Given the description of an element on the screen output the (x, y) to click on. 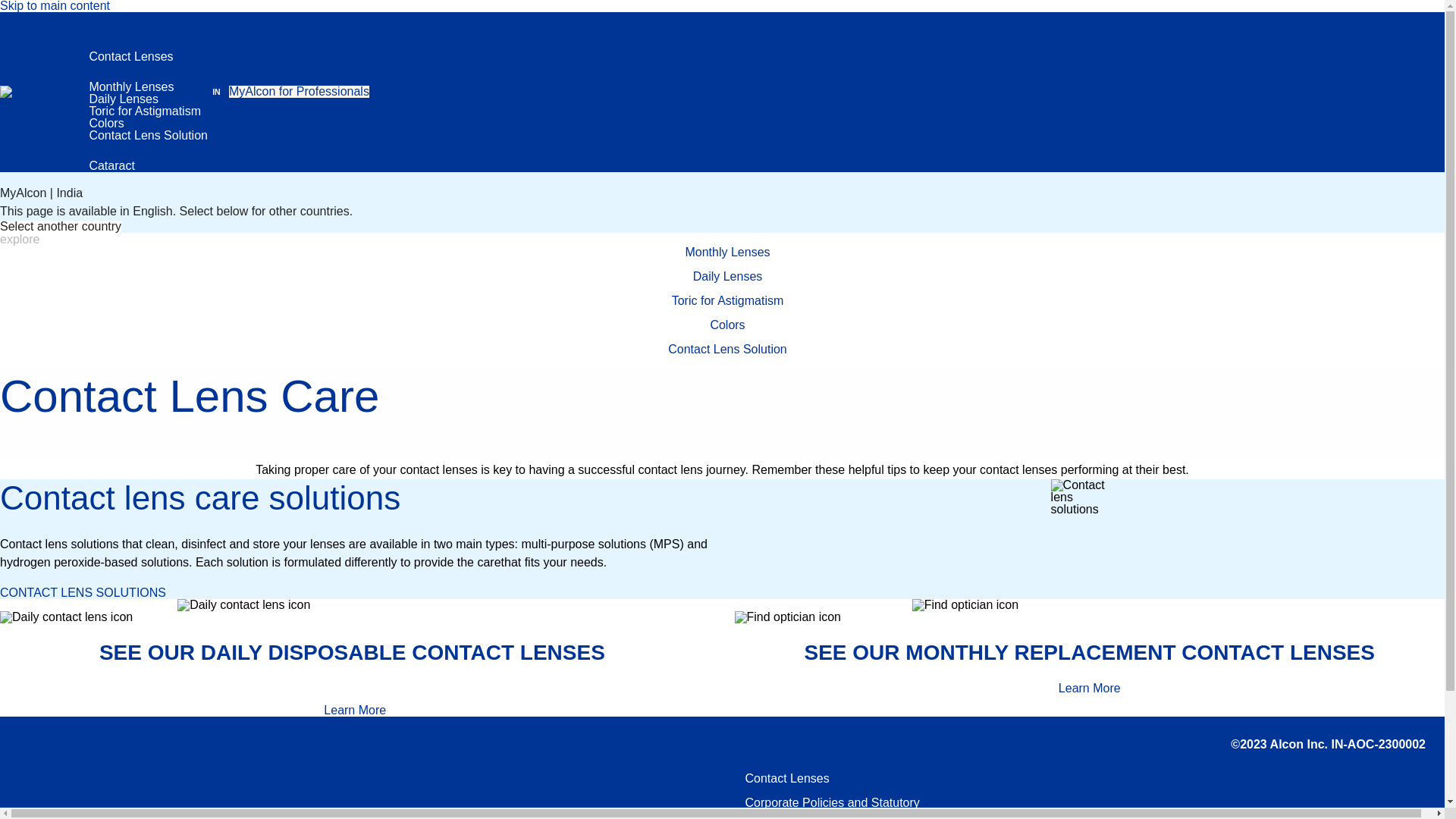
Contact Lenses (130, 56)
IN (216, 91)
Toric for Astigmatism (144, 110)
explore (19, 239)
Colors (105, 123)
Learn More (1089, 688)
CONTACT LENS SOLUTIONS (82, 592)
Contact Lens Solution (148, 134)
Cataract (110, 164)
